Given the description of an element on the screen output the (x, y) to click on. 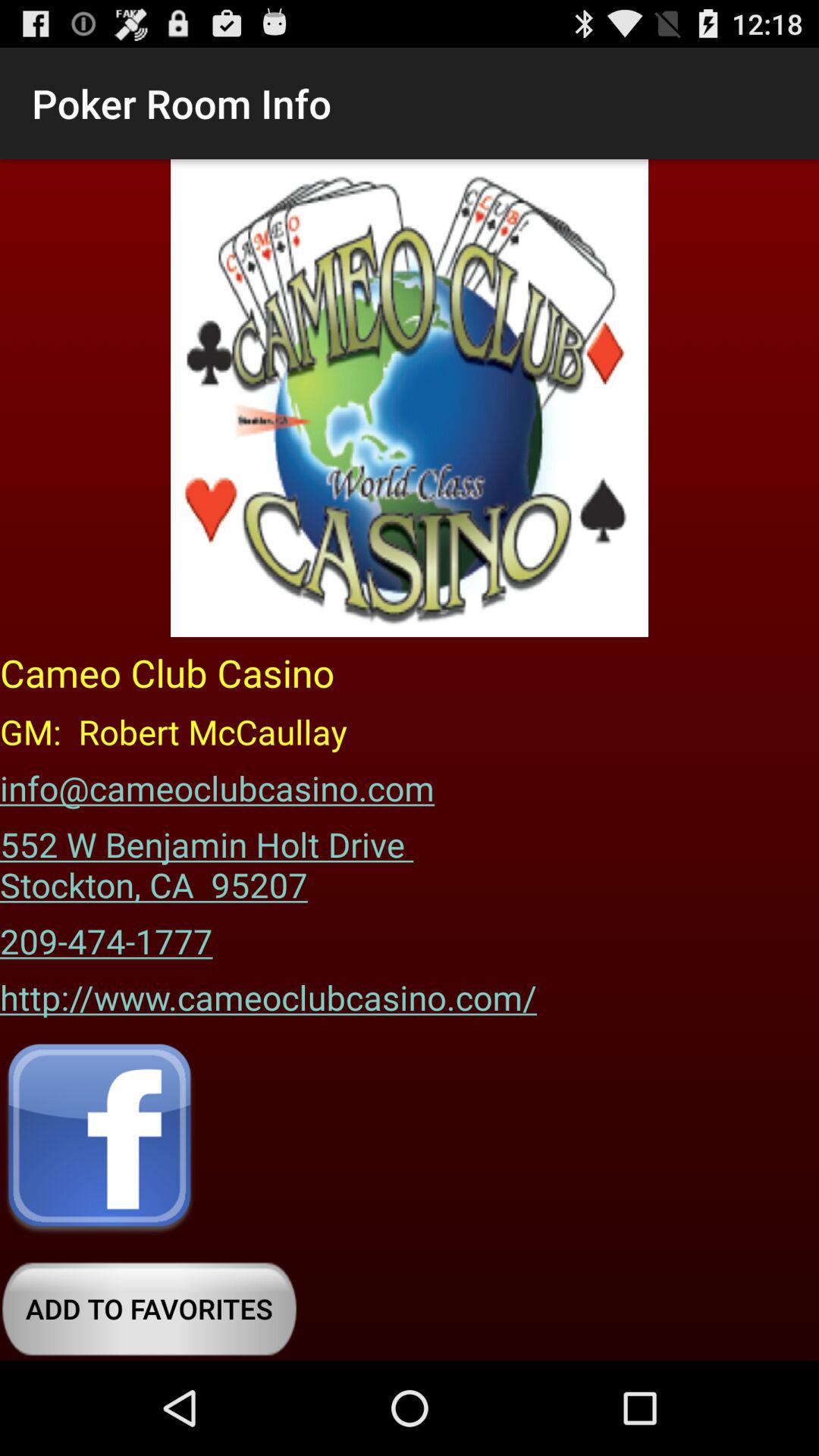
press item below the 552 w benjamin icon (106, 935)
